Given the description of an element on the screen output the (x, y) to click on. 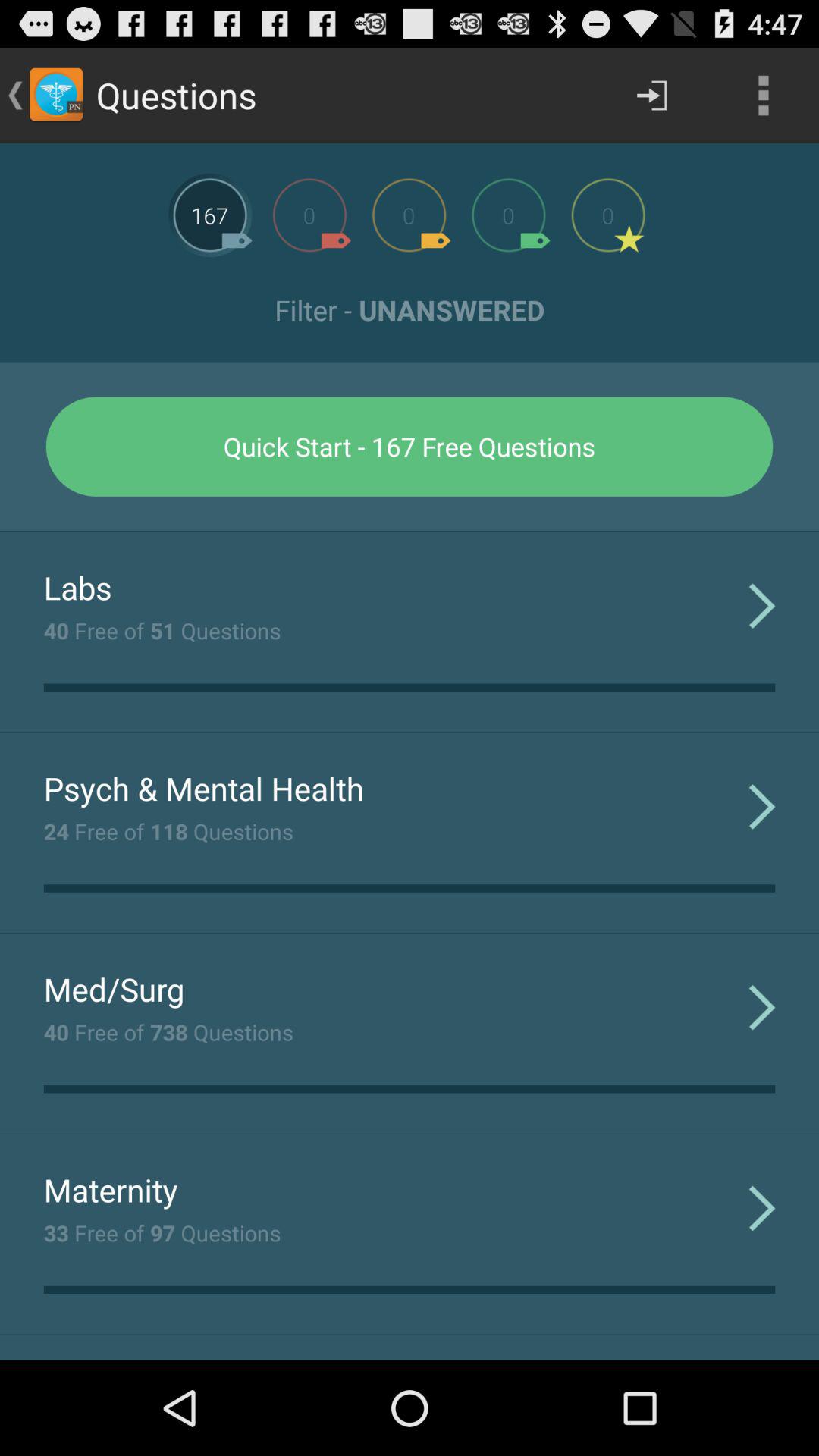
select option (309, 215)
